Given the description of an element on the screen output the (x, y) to click on. 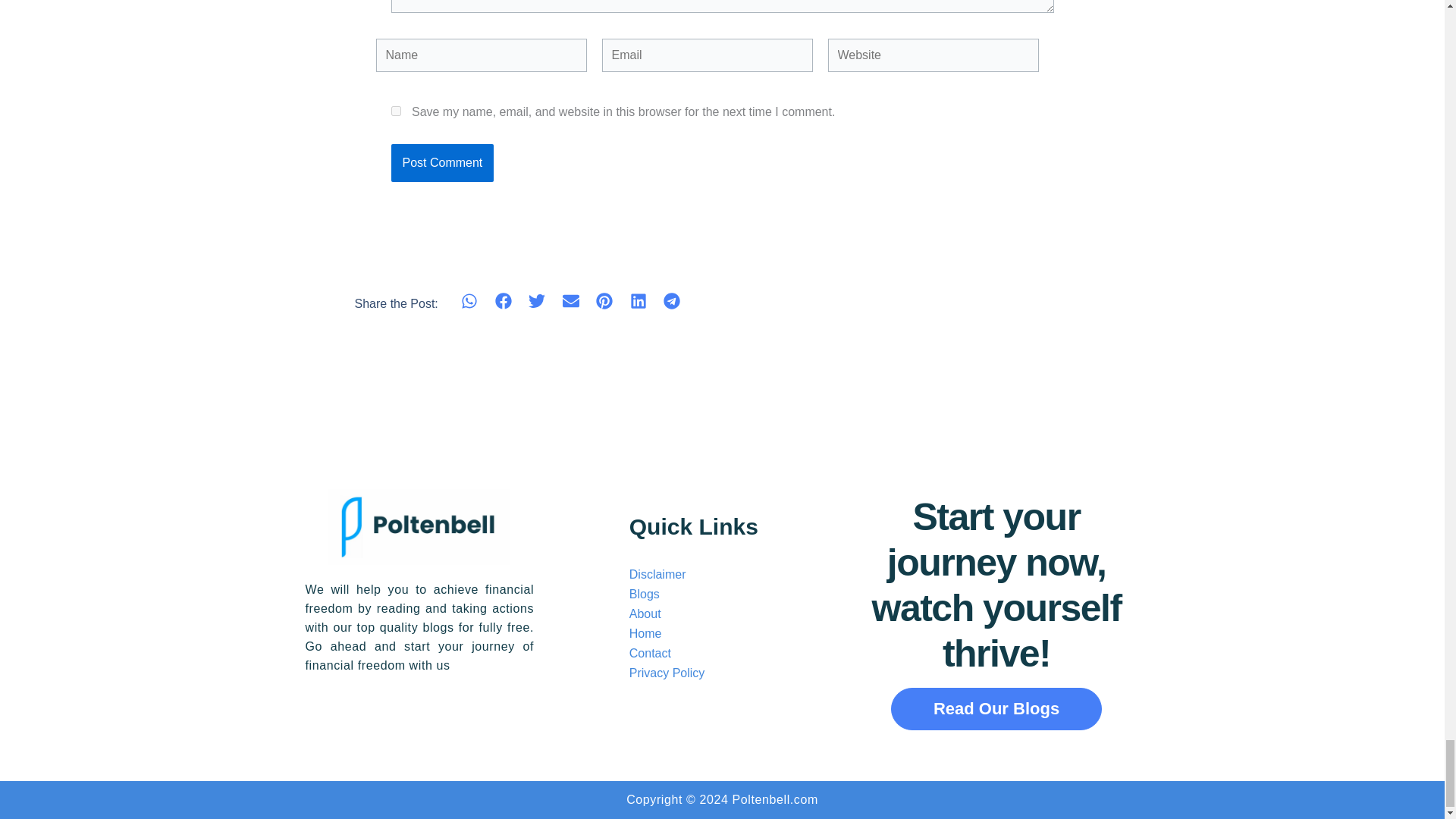
Post Comment (443, 162)
Disclaimer (656, 574)
Blogs (643, 594)
Home (645, 633)
Post Comment (443, 162)
About (644, 613)
Contact (649, 653)
Read Our Blogs (996, 708)
Privacy Policy (666, 672)
yes (396, 111)
